Given the description of an element on the screen output the (x, y) to click on. 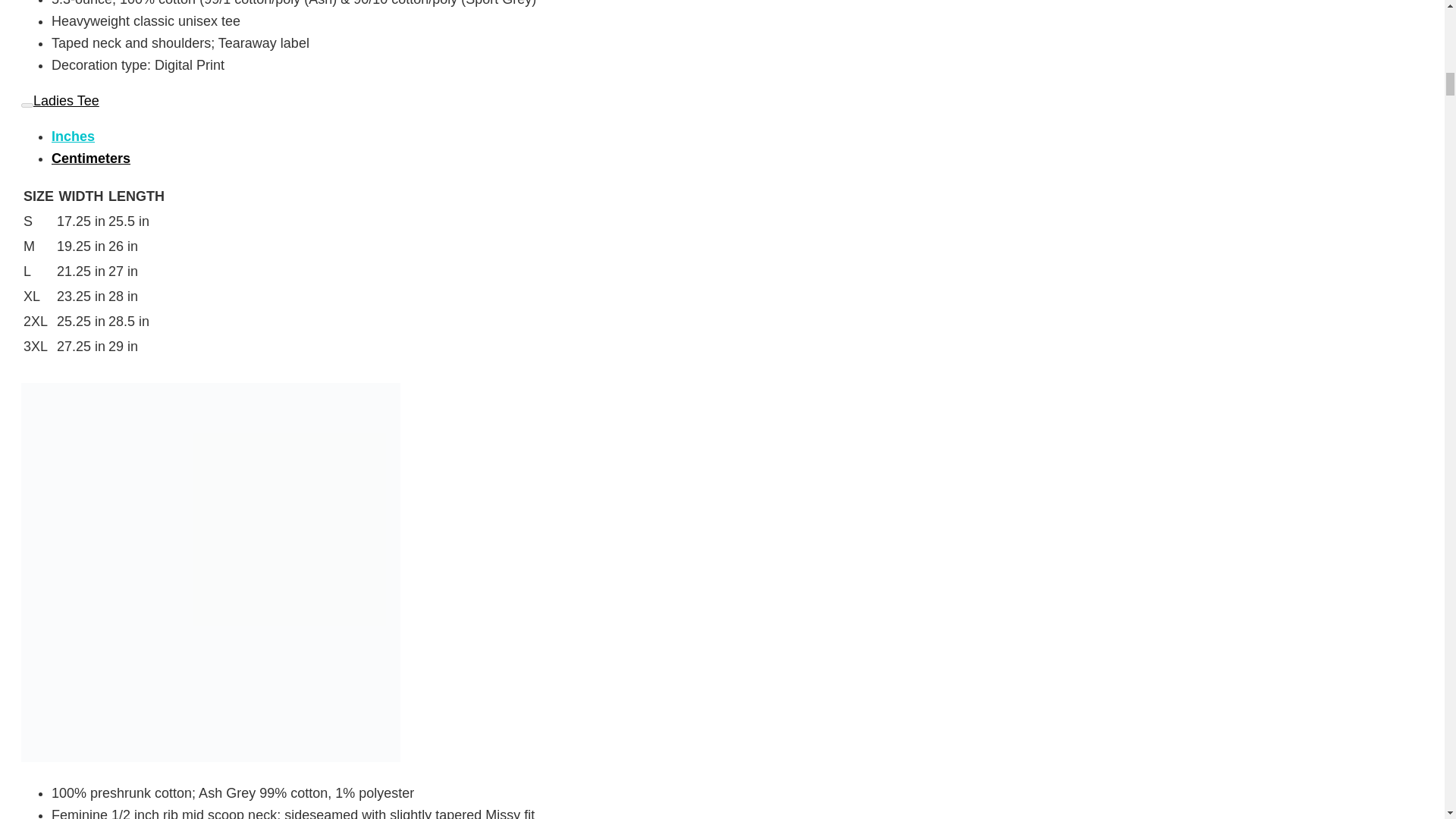
Ladies Tee (60, 100)
